Given the description of an element on the screen output the (x, y) to click on. 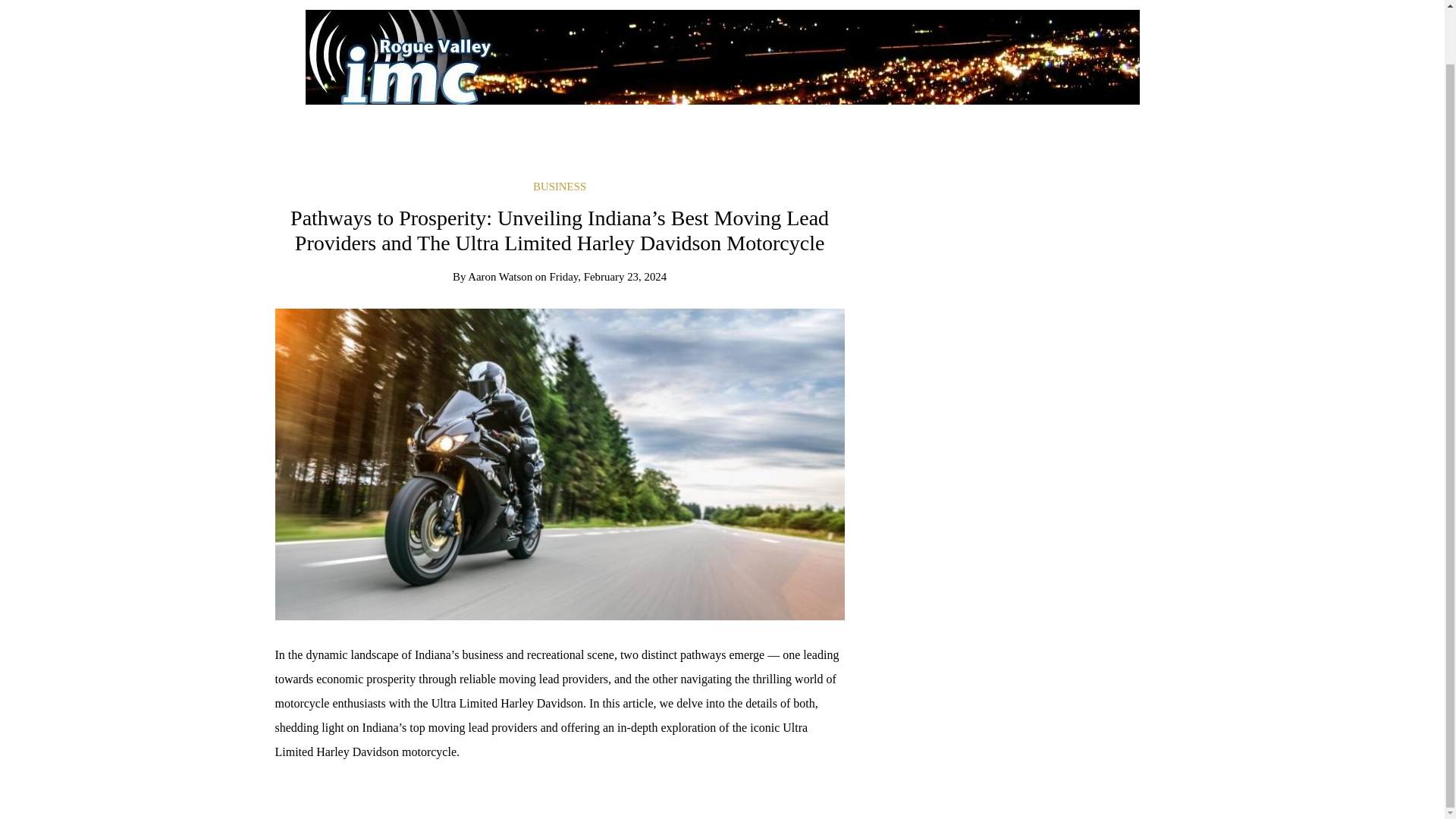
Posts by Aaron Watson (499, 276)
Friday, February 23, 2024 (607, 276)
BUSINESS (559, 186)
Aaron Watson (499, 276)
